Given the description of an element on the screen output the (x, y) to click on. 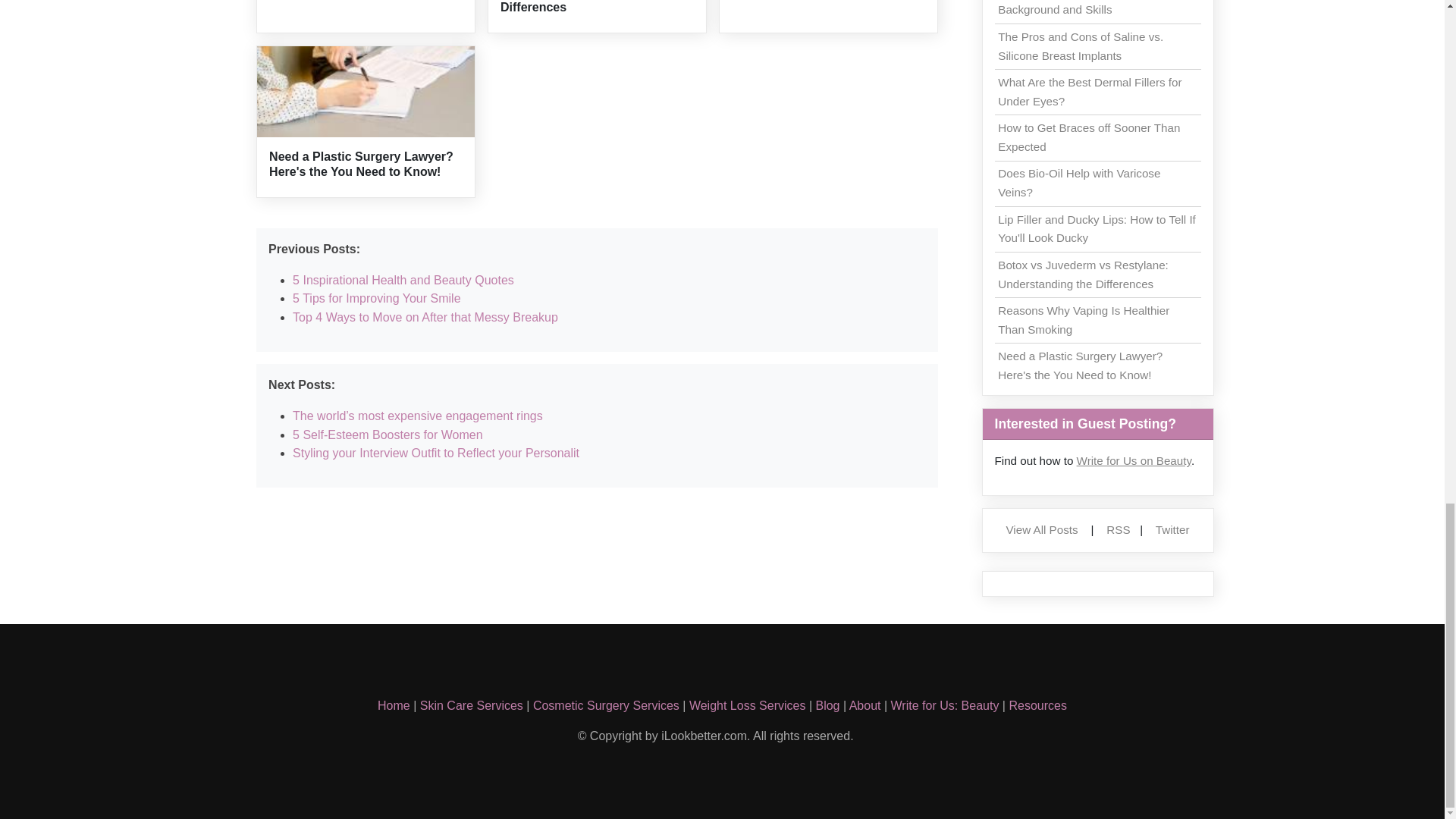
5 Tips for Improving Your Smile (376, 297)
Styling your Interview Outfit to Reflect your Personalit (435, 452)
5 Inspirational Health and Beauty Quotes (402, 279)
Top 4 Ways to Move on After that Messy Breakup (424, 317)
Need a Plastic Surgery Lawyer? Here's the You Need to Know! (360, 163)
5 Self-Esteem Boosters for Women (386, 434)
